Given the description of an element on the screen output the (x, y) to click on. 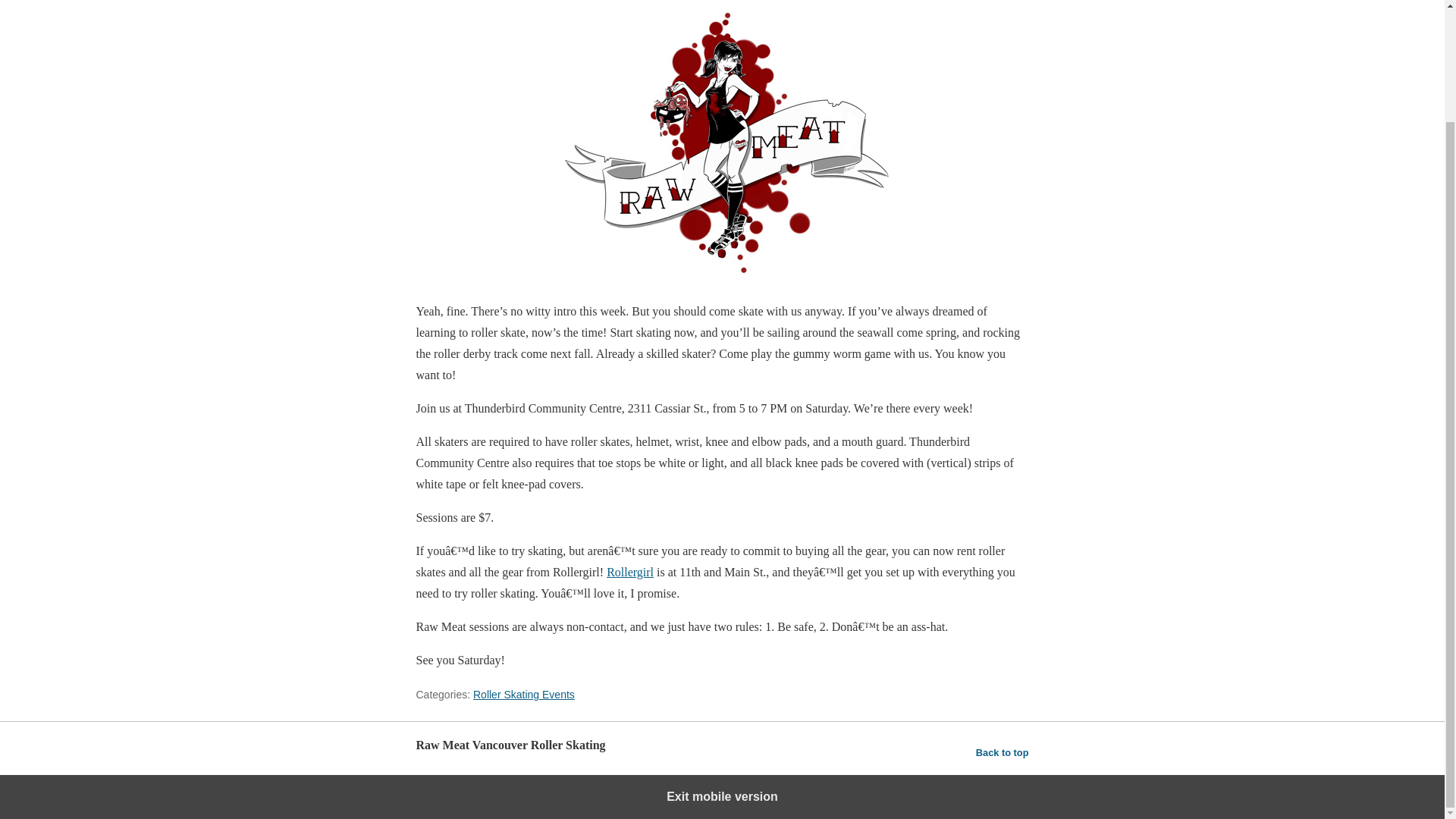
Back to top (1002, 752)
Roller Skating Events (524, 694)
Rollergirl (630, 571)
